Given the description of an element on the screen output the (x, y) to click on. 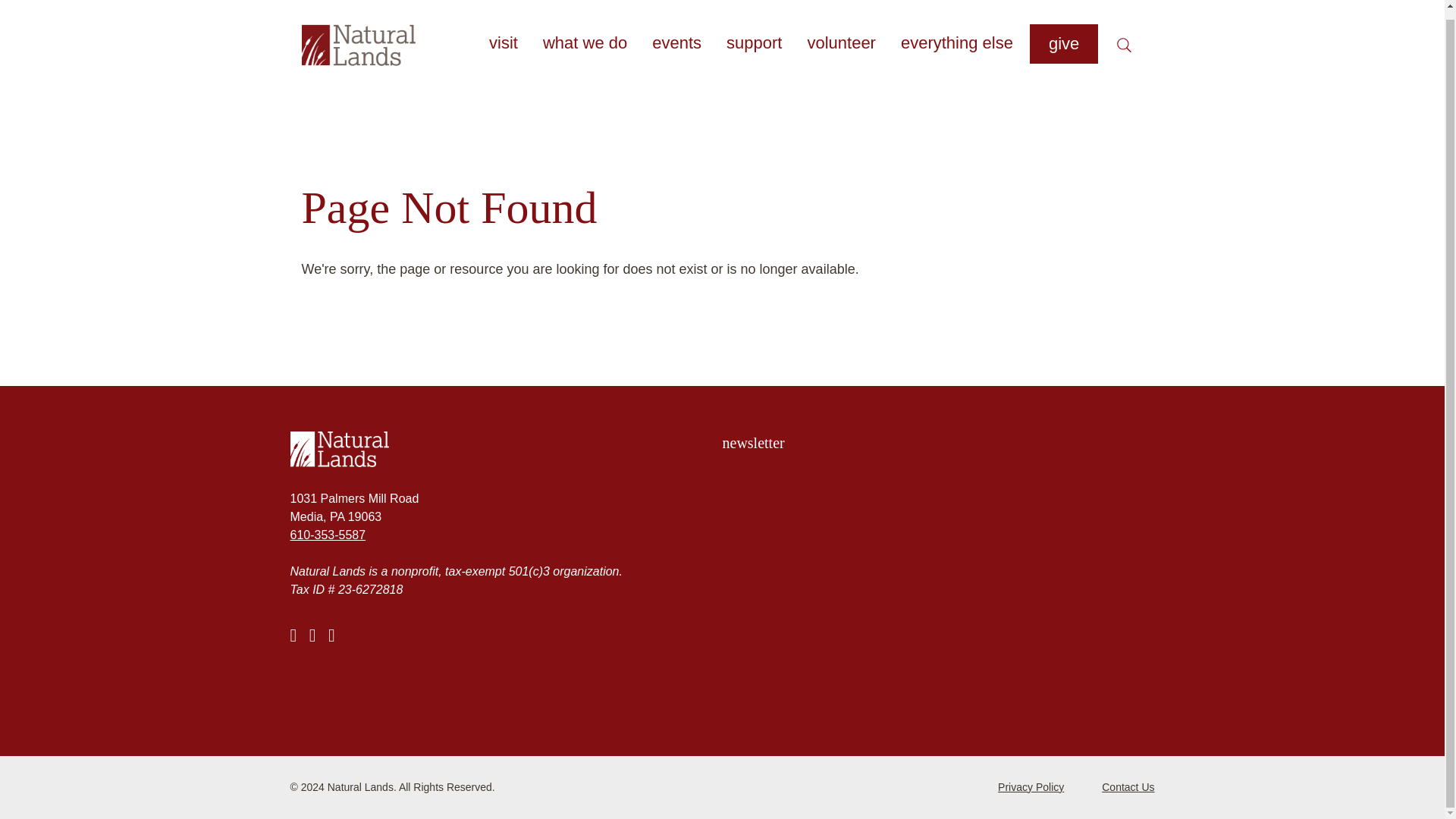
Natural Lands (505, 448)
events (676, 34)
support (753, 34)
Privacy Policy (1030, 787)
Contact Us (1128, 787)
volunteer (840, 34)
610-353-5587 (327, 534)
visit (502, 34)
everything else (957, 34)
what we do (584, 34)
